Given the description of an element on the screen output the (x, y) to click on. 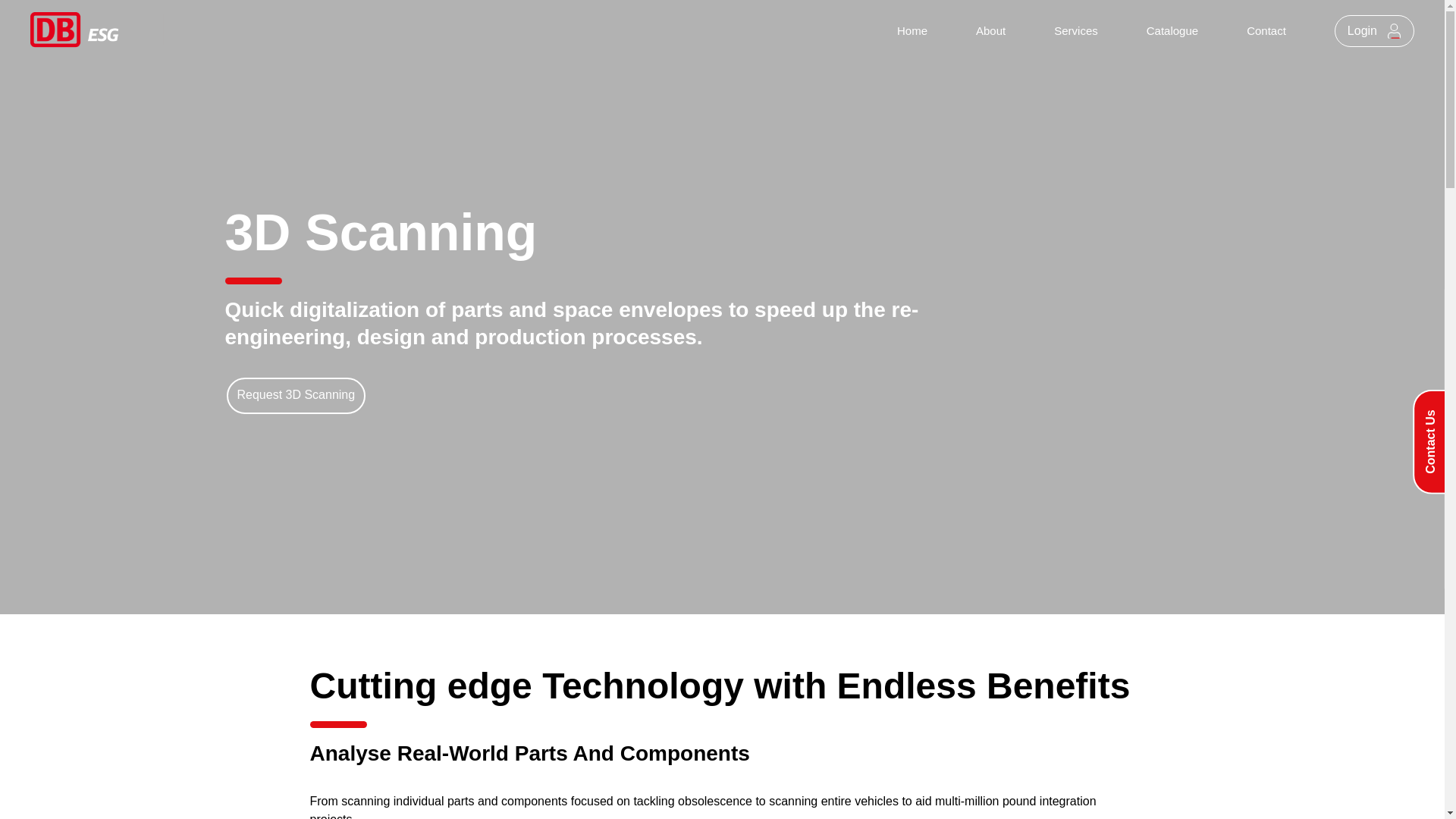
Services (1075, 31)
Contact (1265, 31)
Home (911, 31)
Request 3D Scanning (295, 395)
About (990, 31)
Catalogue (1172, 31)
Login (1374, 30)
